Given the description of an element on the screen output the (x, y) to click on. 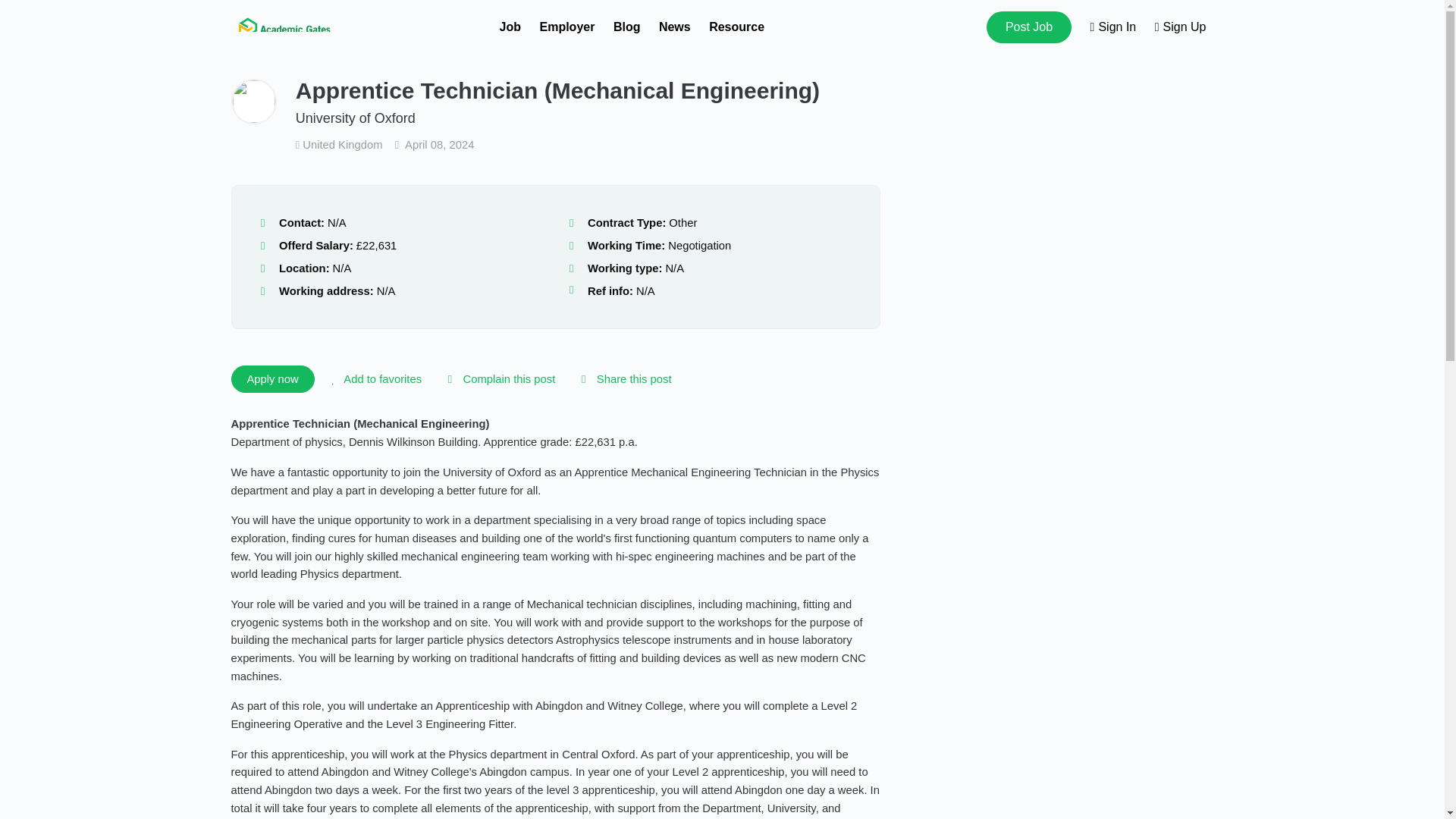
Add to favorites (374, 379)
Share this post (623, 379)
Post Job (1029, 27)
Sign In (1113, 26)
Apply now (272, 379)
University of Oxford (354, 118)
Job (510, 26)
Complain this post (498, 379)
United Kingdom (340, 144)
Blog (626, 26)
